Given the description of an element on the screen output the (x, y) to click on. 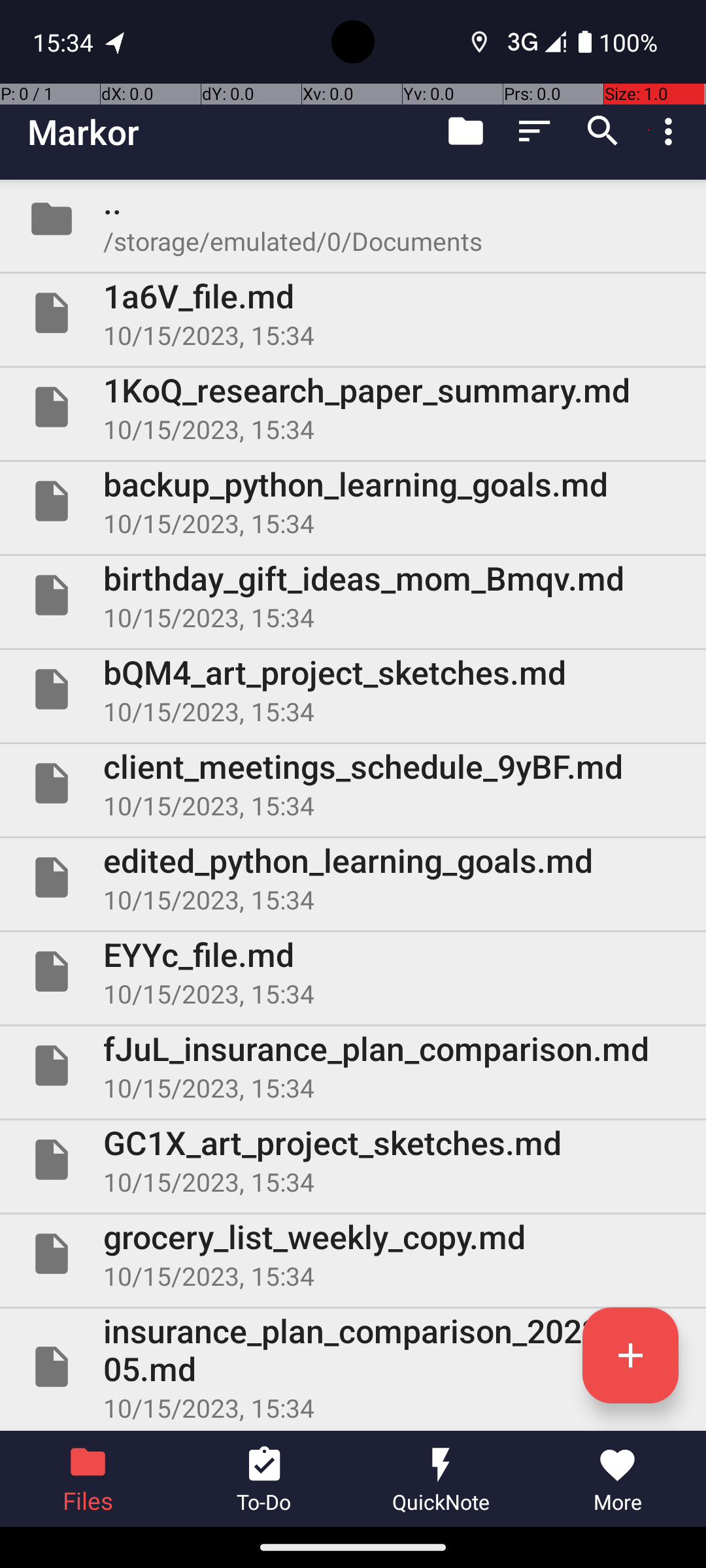
File 1a6V_file.md  Element type: android.widget.LinearLayout (353, 312)
File 1KoQ_research_paper_summary.md  Element type: android.widget.LinearLayout (353, 406)
File backup_python_learning_goals.md  Element type: android.widget.LinearLayout (353, 500)
File birthday_gift_ideas_mom_Bmqv.md  Element type: android.widget.LinearLayout (353, 594)
File bQM4_art_project_sketches.md  Element type: android.widget.LinearLayout (353, 689)
File client_meetings_schedule_9yBF.md  Element type: android.widget.LinearLayout (353, 783)
File edited_python_learning_goals.md  Element type: android.widget.LinearLayout (353, 877)
File EYYc_file.md  Element type: android.widget.LinearLayout (353, 971)
File fJuL_insurance_plan_comparison.md  Element type: android.widget.LinearLayout (353, 1065)
File GC1X_art_project_sketches.md  Element type: android.widget.LinearLayout (353, 1159)
File grocery_list_weekly_copy.md  Element type: android.widget.LinearLayout (353, 1253)
File insurance_plan_comparison_2023_06_05.md  Element type: android.widget.LinearLayout (353, 1366)
